Given the description of an element on the screen output the (x, y) to click on. 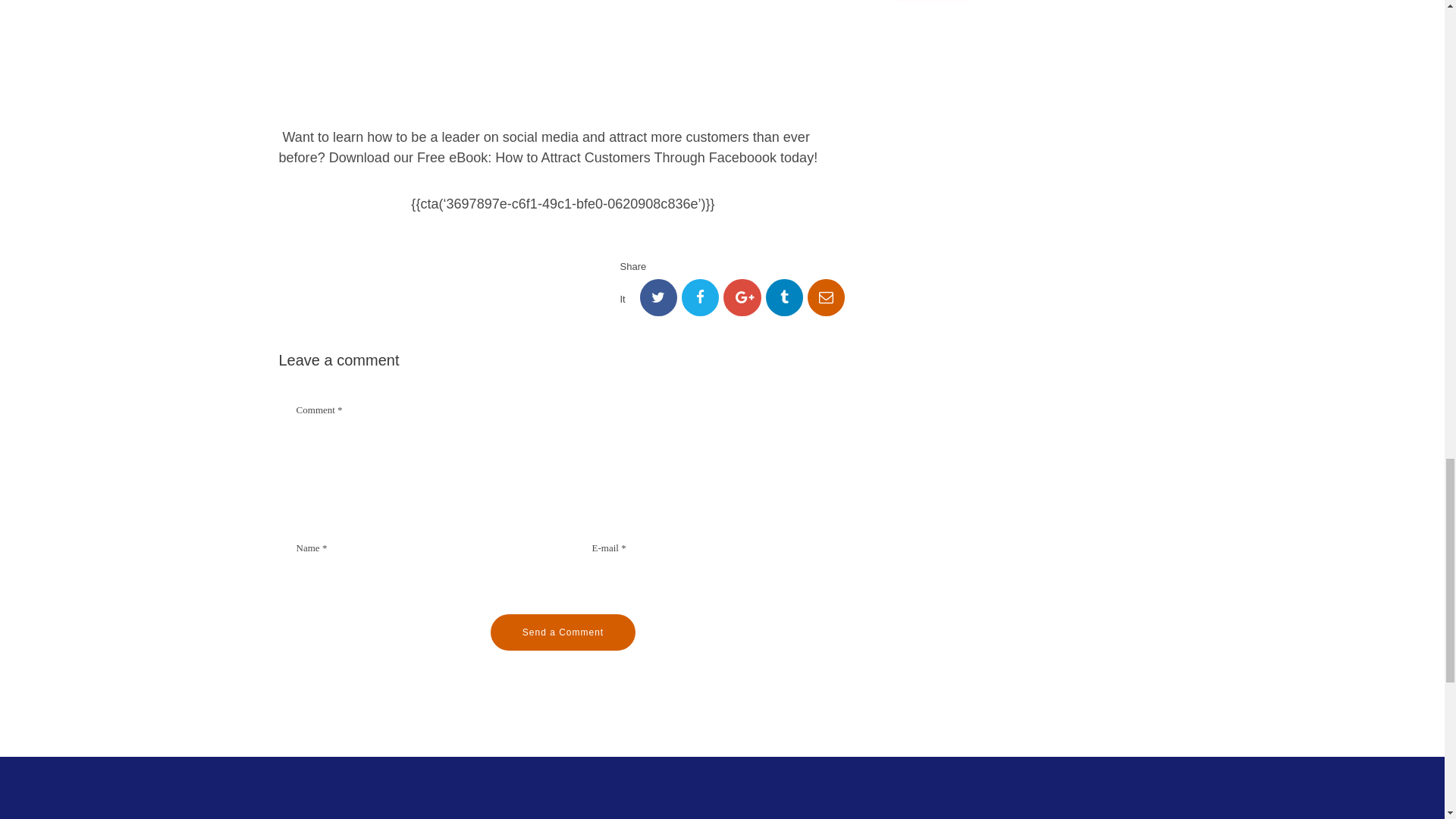
Send a Comment (562, 632)
